Given the description of an element on the screen output the (x, y) to click on. 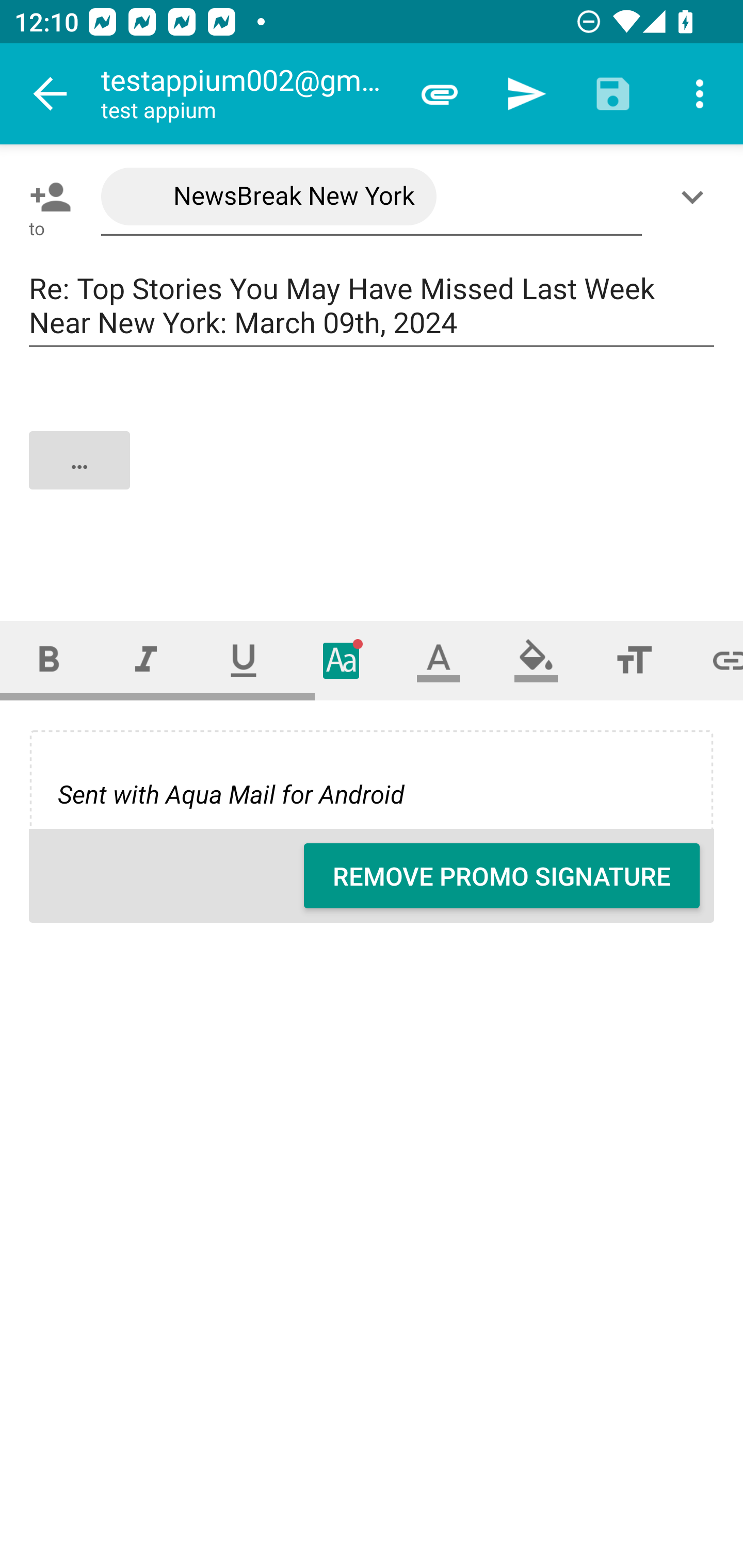
Navigate up (50, 93)
testappium002@gmail.com test appium (248, 93)
Attach (439, 93)
Send (525, 93)
Save (612, 93)
More options (699, 93)
Pick contact: To (46, 196)
Show/Add CC/BCC (696, 196)

…
 (372, 477)
Bold (48, 660)
Italic (145, 660)
Underline (243, 660)
Typeface (font) (341, 660)
Text color (438, 660)
Fill color (536, 660)
Font size (633, 660)
Set link (712, 660)
REMOVE PROMO SIGNATURE (501, 875)
